Given the description of an element on the screen output the (x, y) to click on. 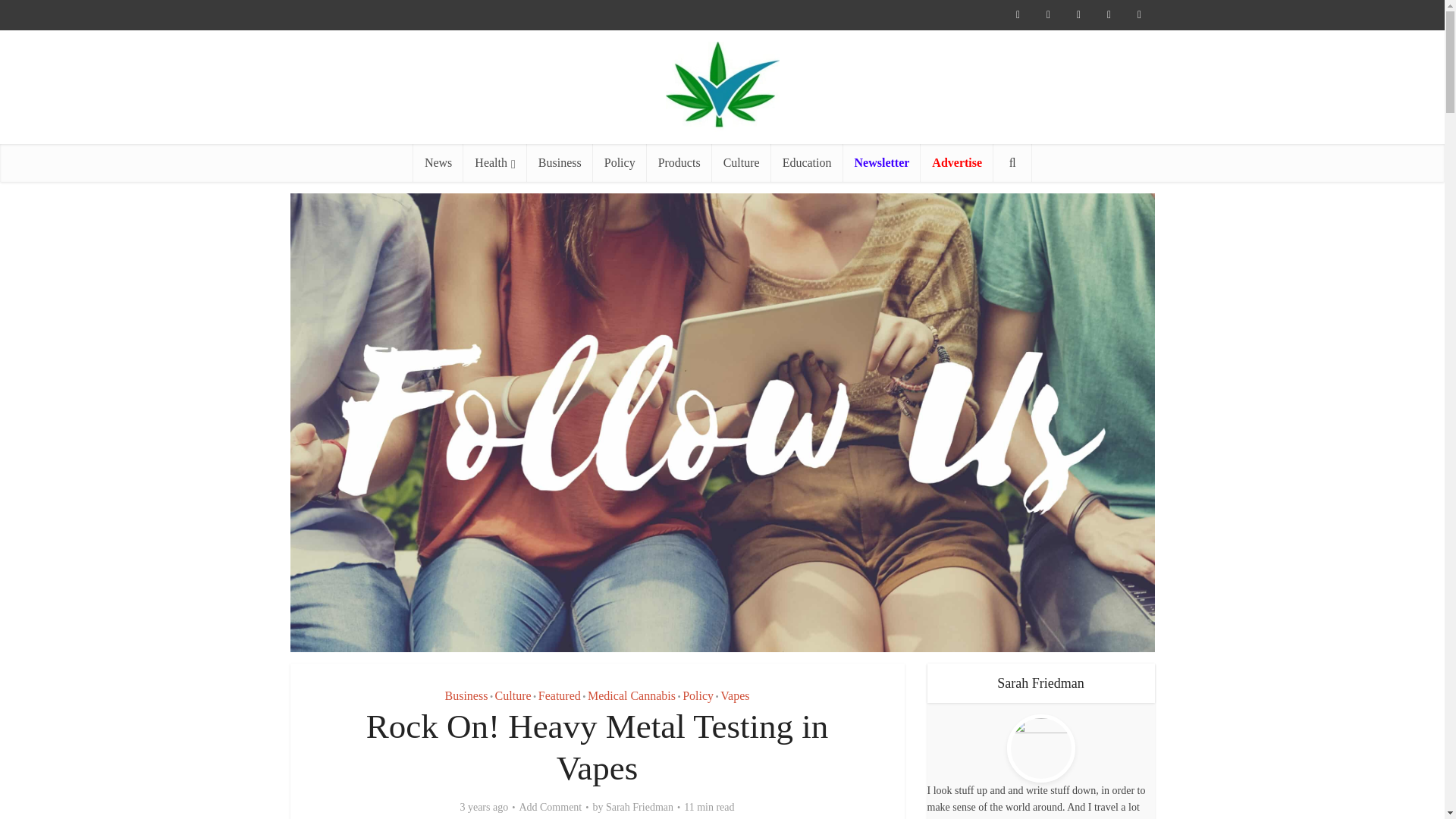
Business (559, 162)
Products (678, 162)
Culture (741, 162)
Advertise (956, 162)
Policy (619, 162)
Education (807, 162)
Newsletter (882, 162)
Health (495, 162)
News (438, 162)
